Given the description of an element on the screen output the (x, y) to click on. 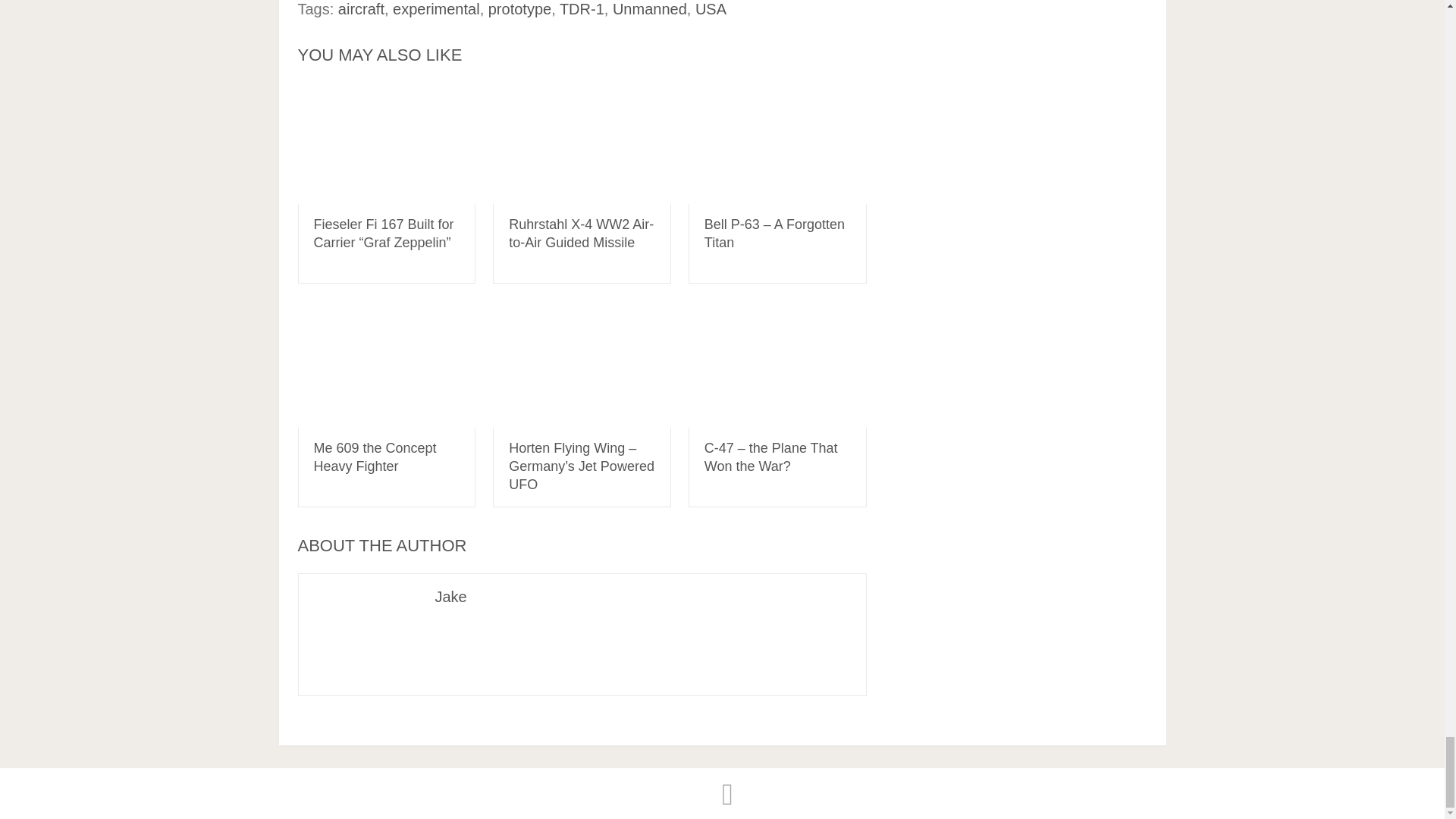
TDR-1 (581, 8)
Unmanned (649, 8)
Ruhrstahl X-4 WW2 Air-to-Air Guided Missile (580, 233)
aircraft (360, 8)
Me 609 the Concept Heavy Fighter (386, 366)
Ruhrstahl X-4 WW2 Air-to-Air Guided Missile (582, 142)
USA (710, 8)
experimental (436, 8)
prototype (519, 8)
